Given the description of an element on the screen output the (x, y) to click on. 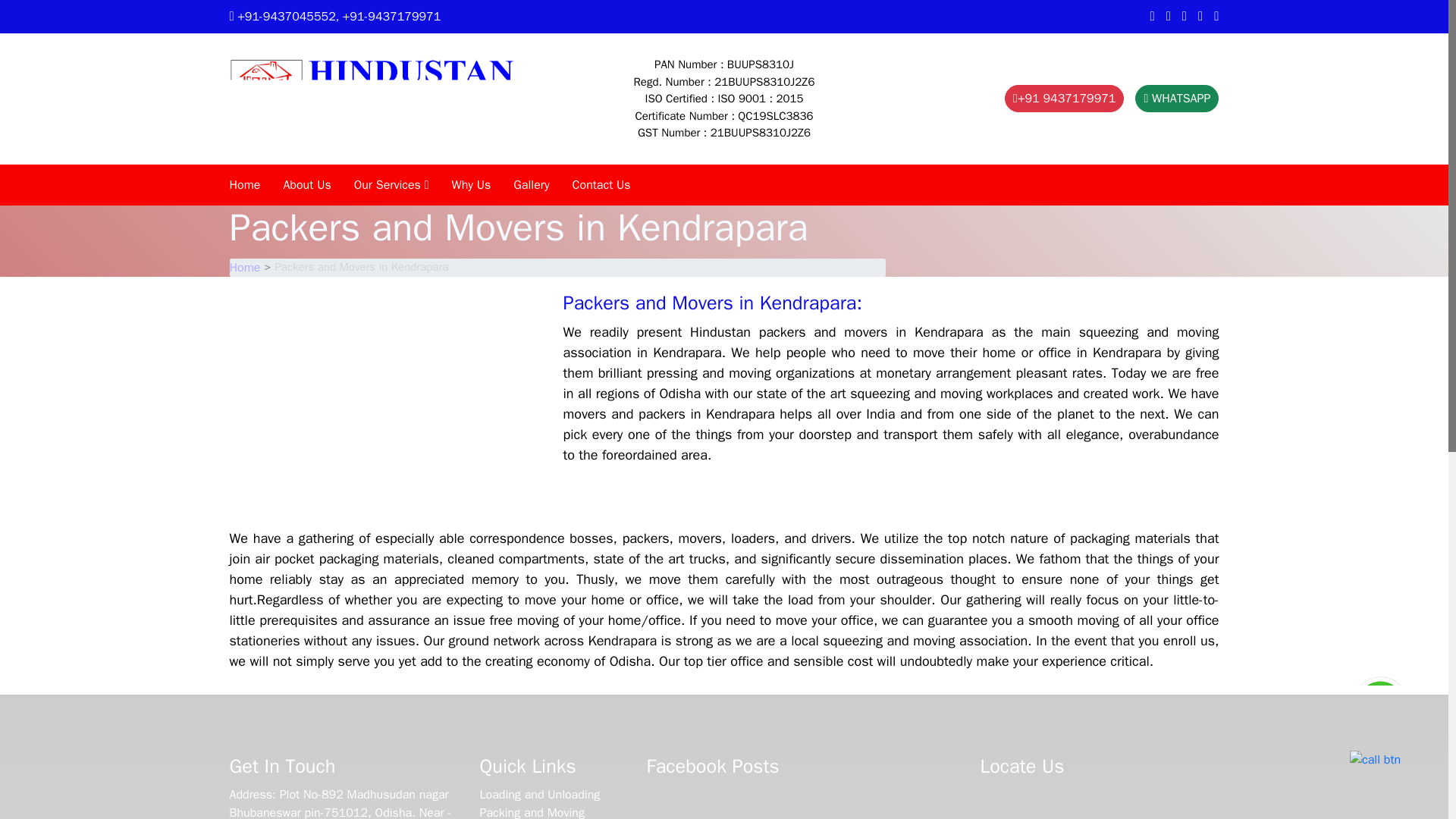
Contact Us (601, 184)
Why Us (471, 184)
Gallery (530, 184)
Packing and Moving (531, 812)
Home (244, 184)
Home (244, 266)
Loading and Unloading (539, 794)
WHATSAPP (1176, 98)
About Us (306, 184)
Our Services (391, 184)
